Given the description of an element on the screen output the (x, y) to click on. 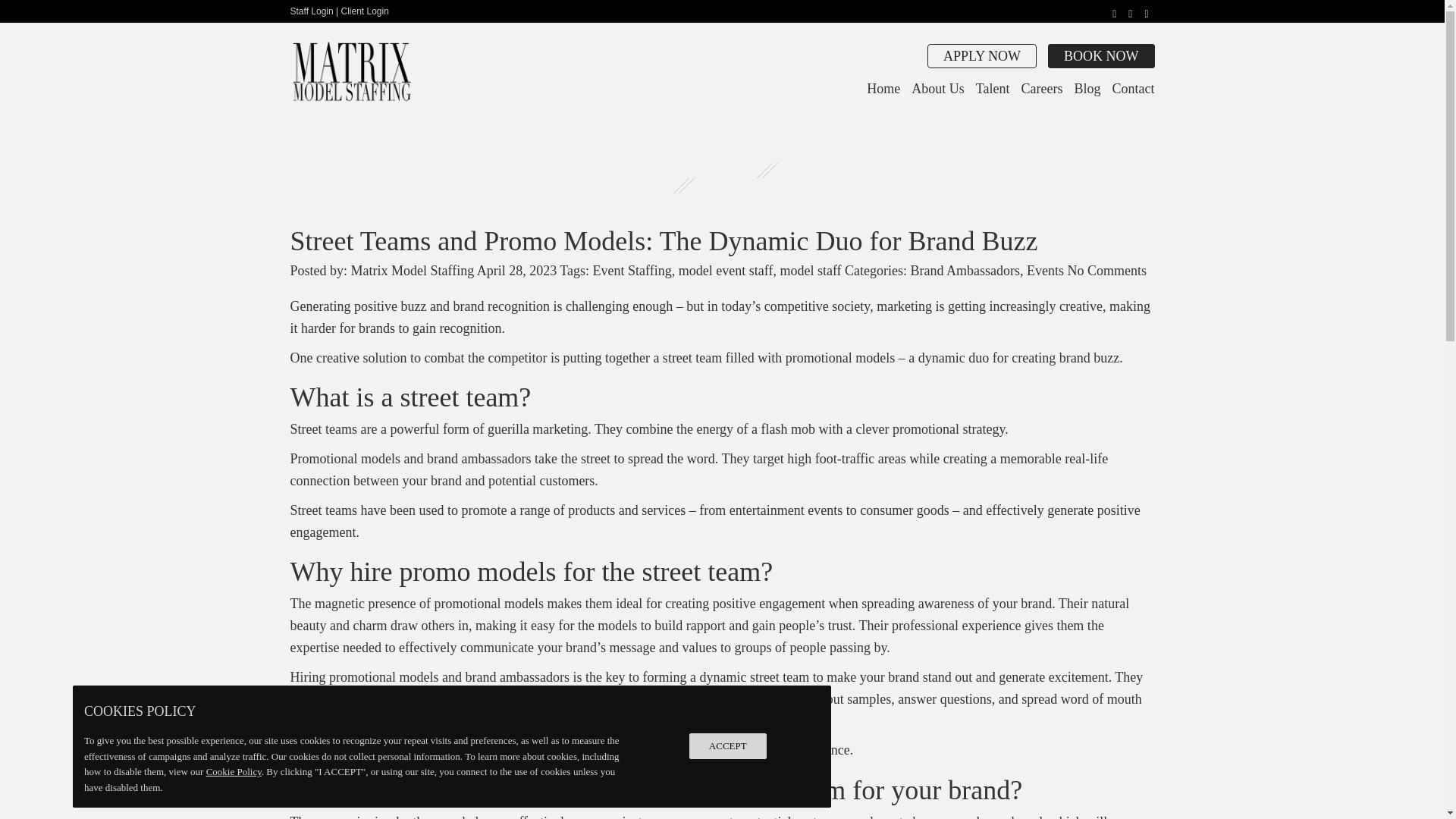
Talent (992, 88)
Staff Login (311, 10)
Event Staffing (631, 270)
Contact (1133, 88)
Careers (1042, 88)
model staff (809, 270)
About Us (937, 88)
APPLY NOW (981, 55)
model event staff (725, 270)
